Given the description of an element on the screen output the (x, y) to click on. 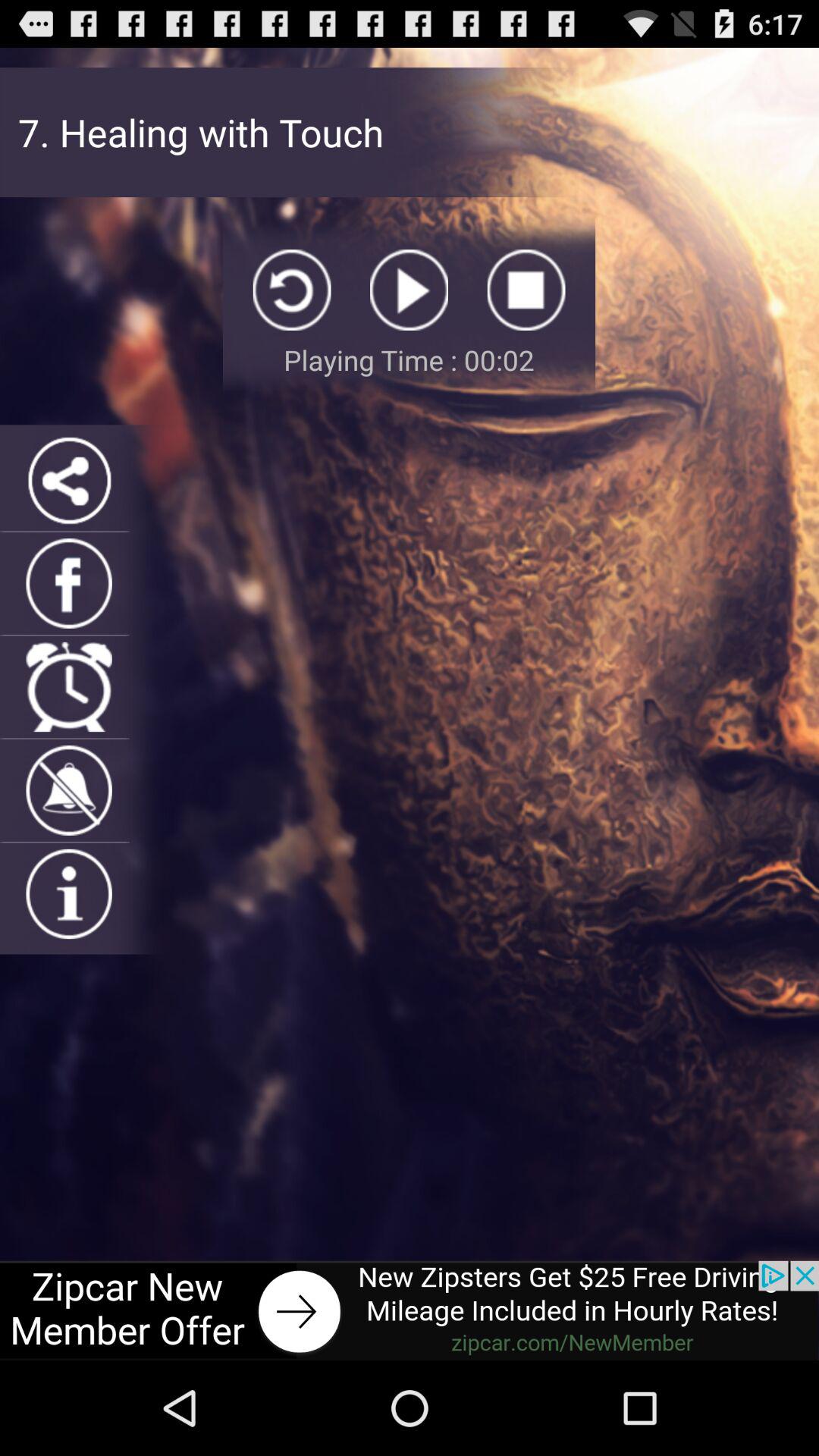
share item (69, 479)
